Given the description of an element on the screen output the (x, y) to click on. 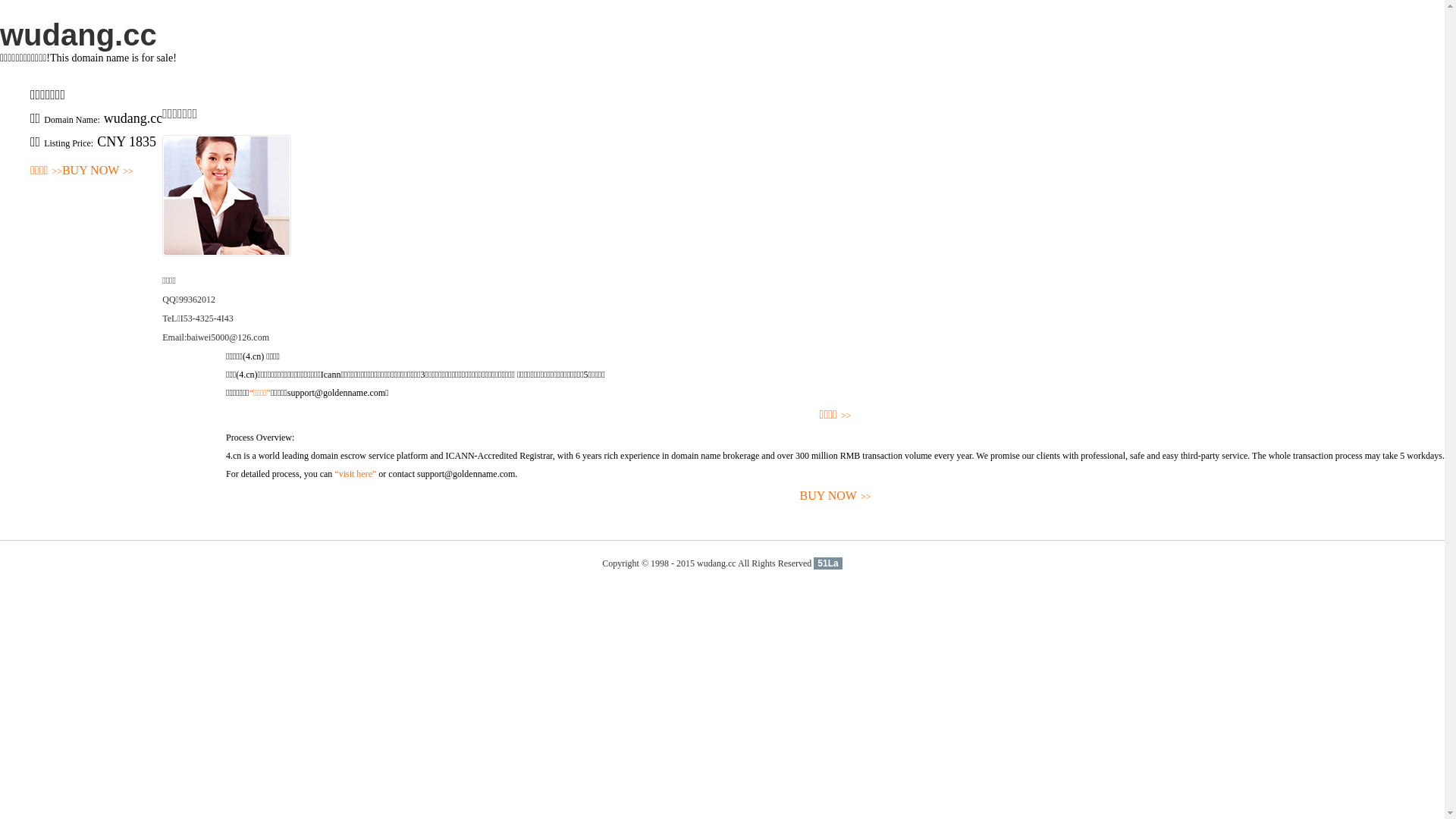
BUY NOW>> Element type: text (97, 170)
BUY NOW>> Element type: text (834, 496)
51La Element type: text (827, 563)
